Given the description of an element on the screen output the (x, y) to click on. 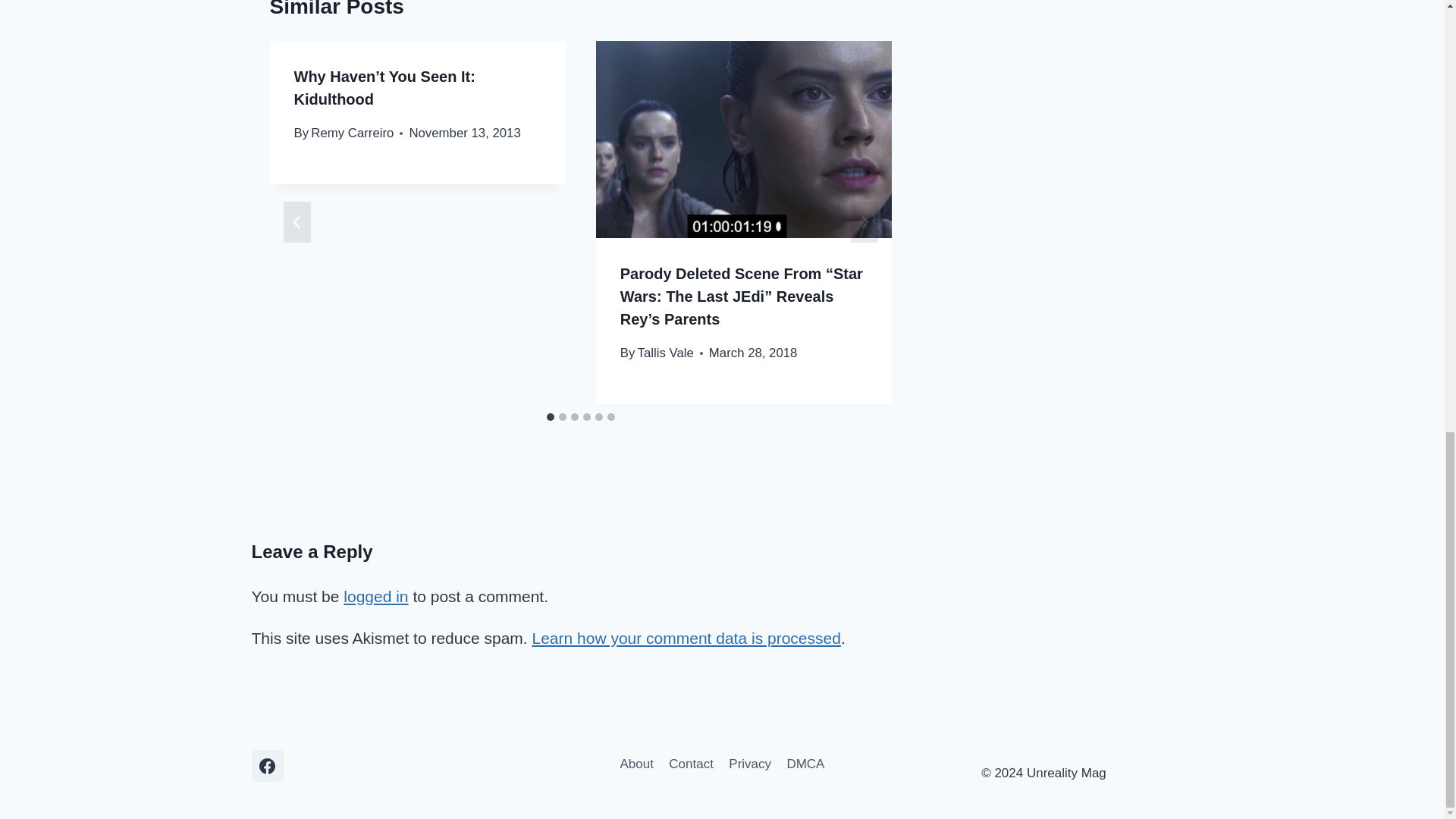
Remy Carreiro (352, 133)
Tallis Vale (665, 352)
